Given the description of an element on the screen output the (x, y) to click on. 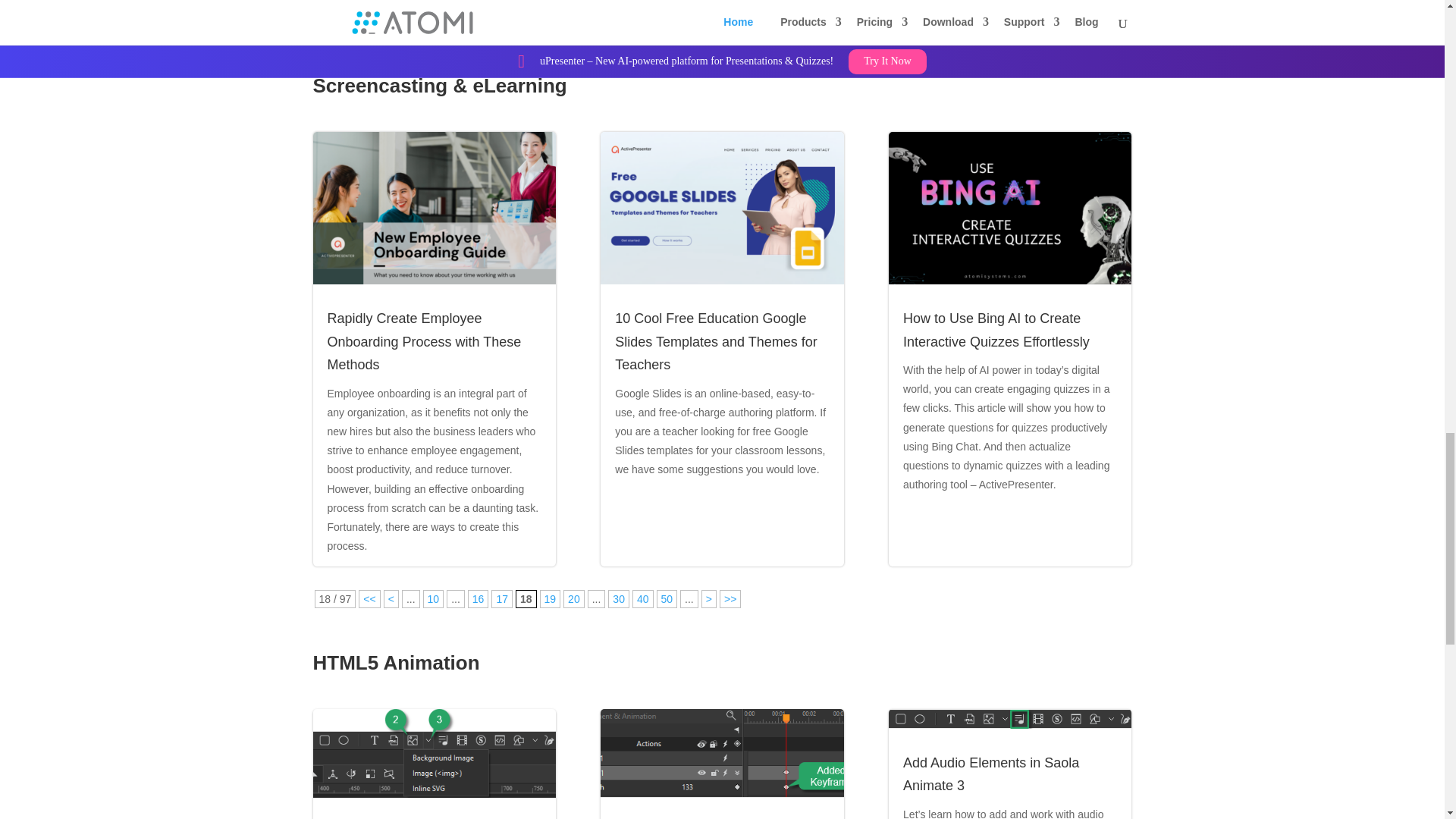
Page 20 (574, 598)
Page 10 (433, 598)
Page 40 (642, 598)
Page 19 (550, 598)
Page 50 (667, 598)
Page 17 (502, 598)
Page 30 (618, 598)
Page 16 (478, 598)
